Given the description of an element on the screen output the (x, y) to click on. 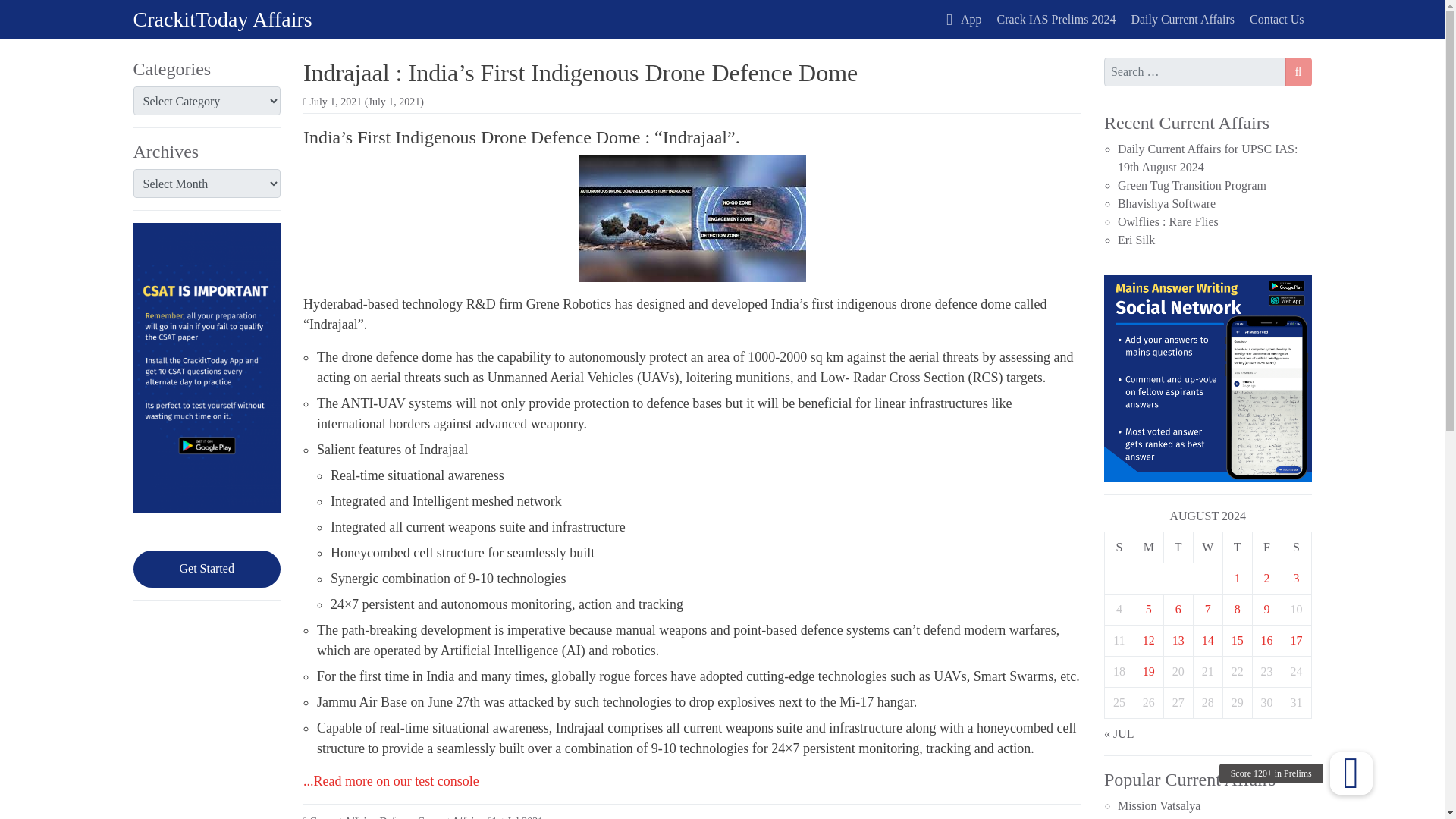
CrackitToday Affairs (223, 19)
Wednesday (1207, 546)
Crack IAS Prelims 2024 (1057, 19)
Daily Current Affairs for UPSC IAS: 19th August 2024 (1207, 157)
Thursday (1237, 546)
Skip to content (20, 17)
Eri Silk (1136, 239)
...Read more on our test console (390, 780)
Bhavishya Software (1166, 203)
Green Tug Transition Program (1192, 185)
